Given the description of an element on the screen output the (x, y) to click on. 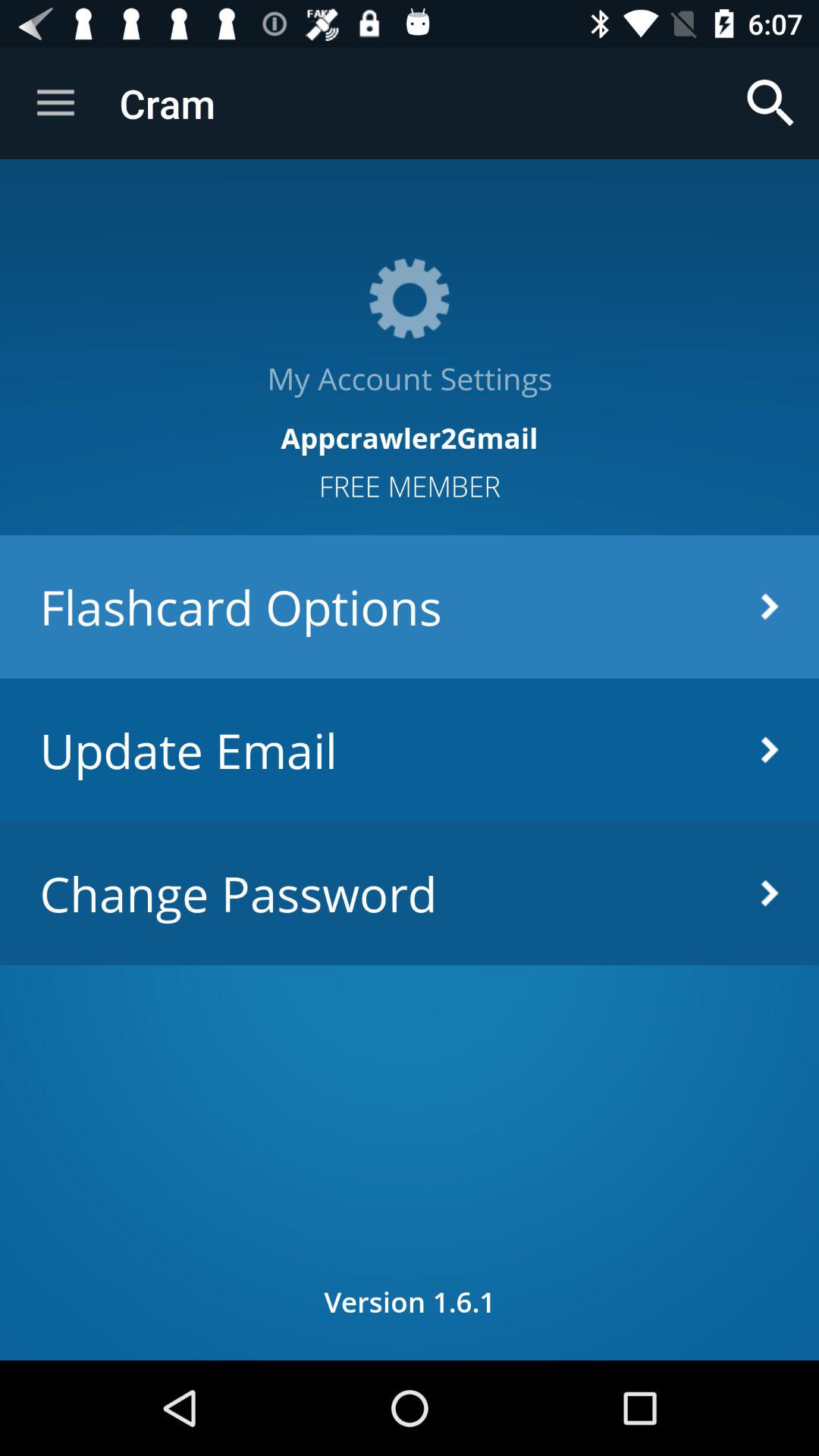
choose item above the my account settings (55, 103)
